Given the description of an element on the screen output the (x, y) to click on. 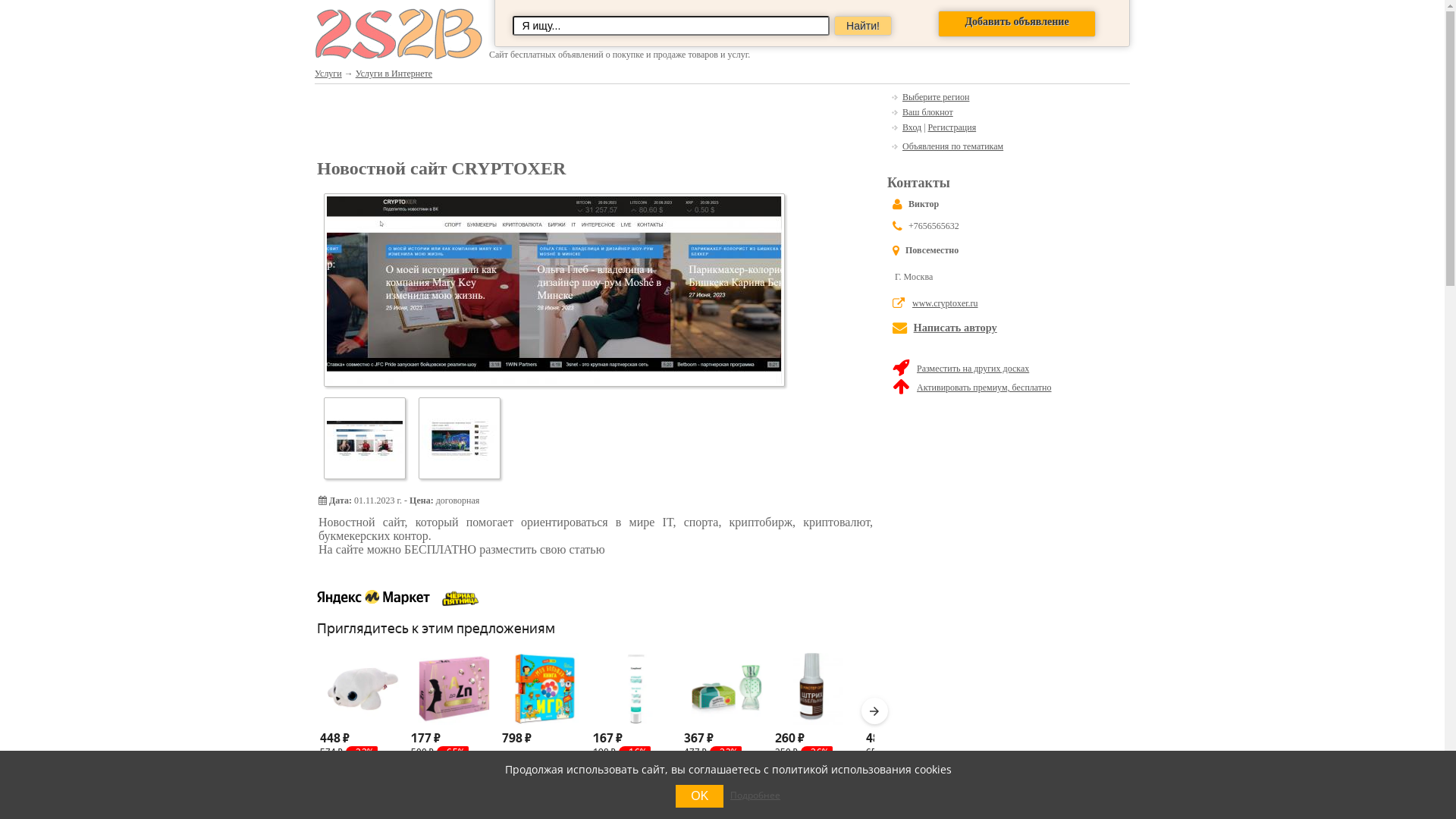
4.6 Element type: text (878, 768)
www.cryptoxer.ru Element type: text (945, 303)
480  Element type: text (894, 738)
4.9 Element type: text (332, 768)
4.8 Element type: text (423, 768)
4.8 Element type: text (605, 768)
OK Element type: text (699, 795)
4.8 Element type: text (696, 768)
655  Element type: text (877, 752)
